Given the description of an element on the screen output the (x, y) to click on. 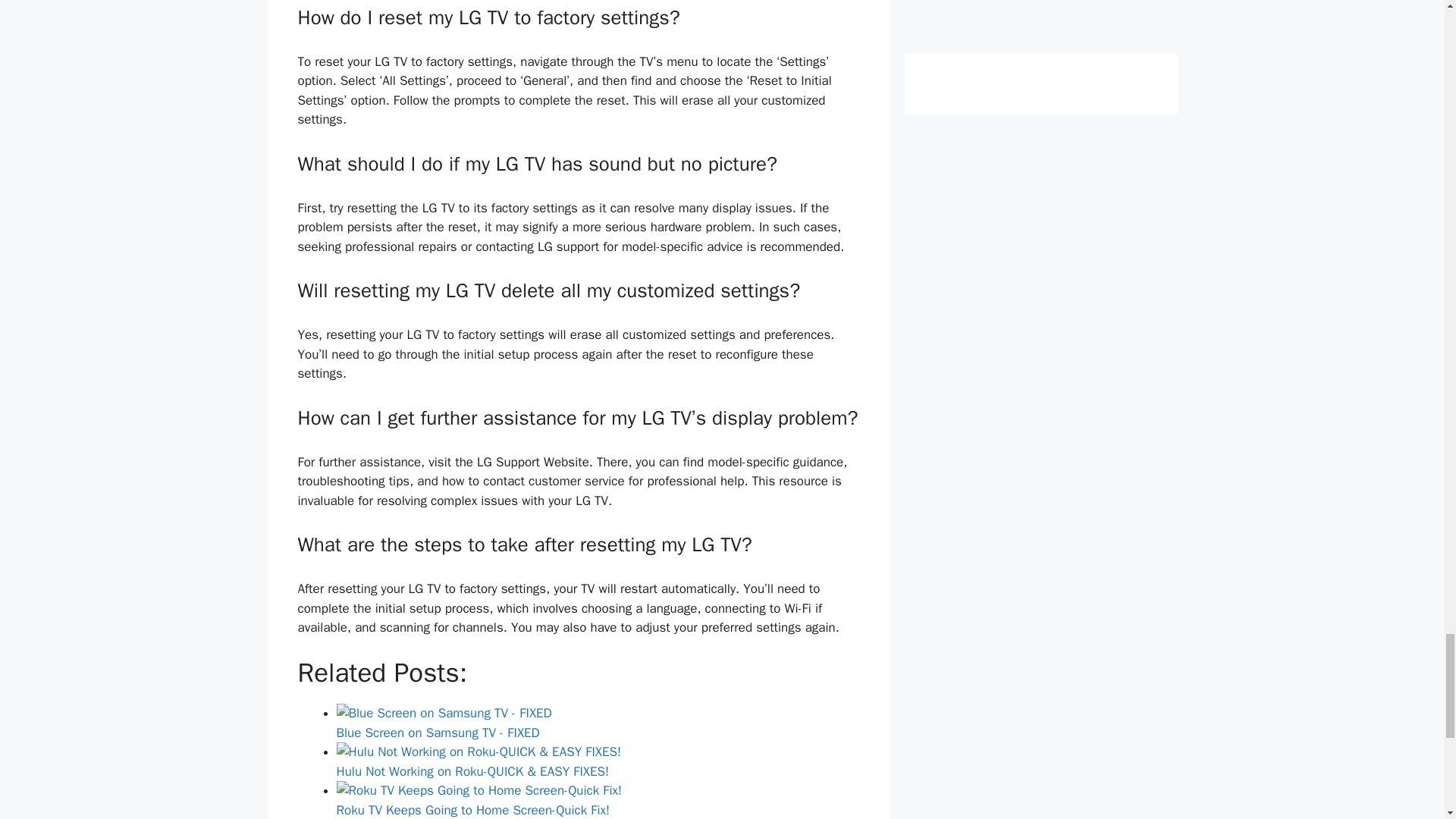
Blue Screen on Samsung TV - FIXED (597, 722)
Roku TV Keeps Going to Home Screen-Quick Fix! (479, 790)
Blue Screen on Samsung TV - FIXED (443, 713)
Roku TV Keeps Going to Home Screen-Quick Fix! (597, 799)
